Given the description of an element on the screen output the (x, y) to click on. 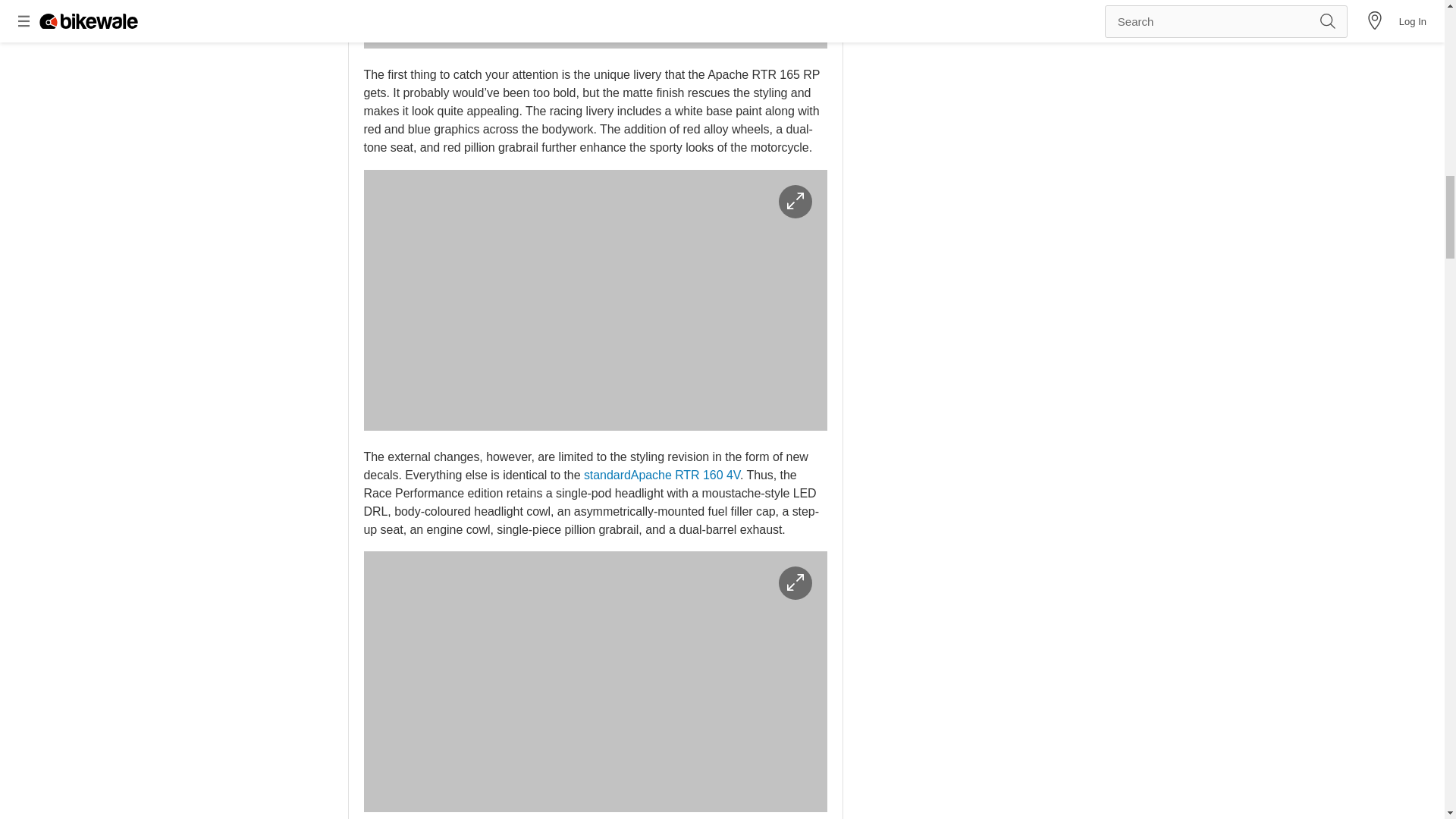
standard (606, 474)
TVS Apache RTR 165RP Left Side Multifunction Switchgear (595, 681)
Apache RTR 160 4V (684, 474)
TVS Apache RTR 165RP Right Front Three Quarter (595, 299)
TVS Apache RTR 165RP Left Side View (595, 24)
